Given the description of an element on the screen output the (x, y) to click on. 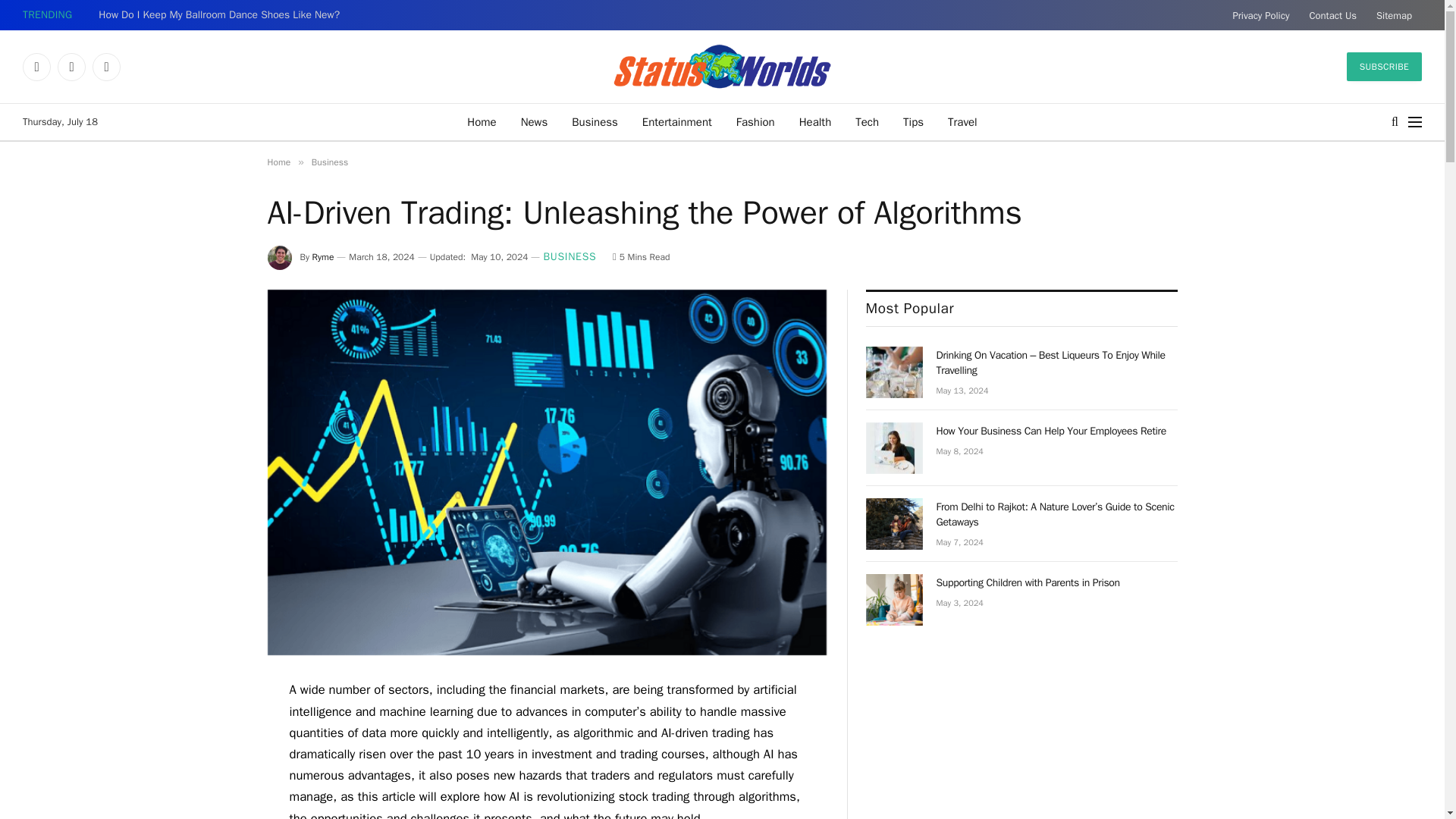
Instagram (106, 67)
SUBSCRIBE (1384, 66)
Health (815, 122)
Business (594, 122)
Tips (913, 122)
Posts by Ryme (323, 256)
Contact Us (1332, 15)
Twitter (71, 67)
Tech (867, 122)
Search (1394, 121)
Travel (963, 122)
Home (481, 122)
Facebook (36, 67)
How Do I Keep My Ballroom Dance Shoes Like New? (223, 15)
